Given the description of an element on the screen output the (x, y) to click on. 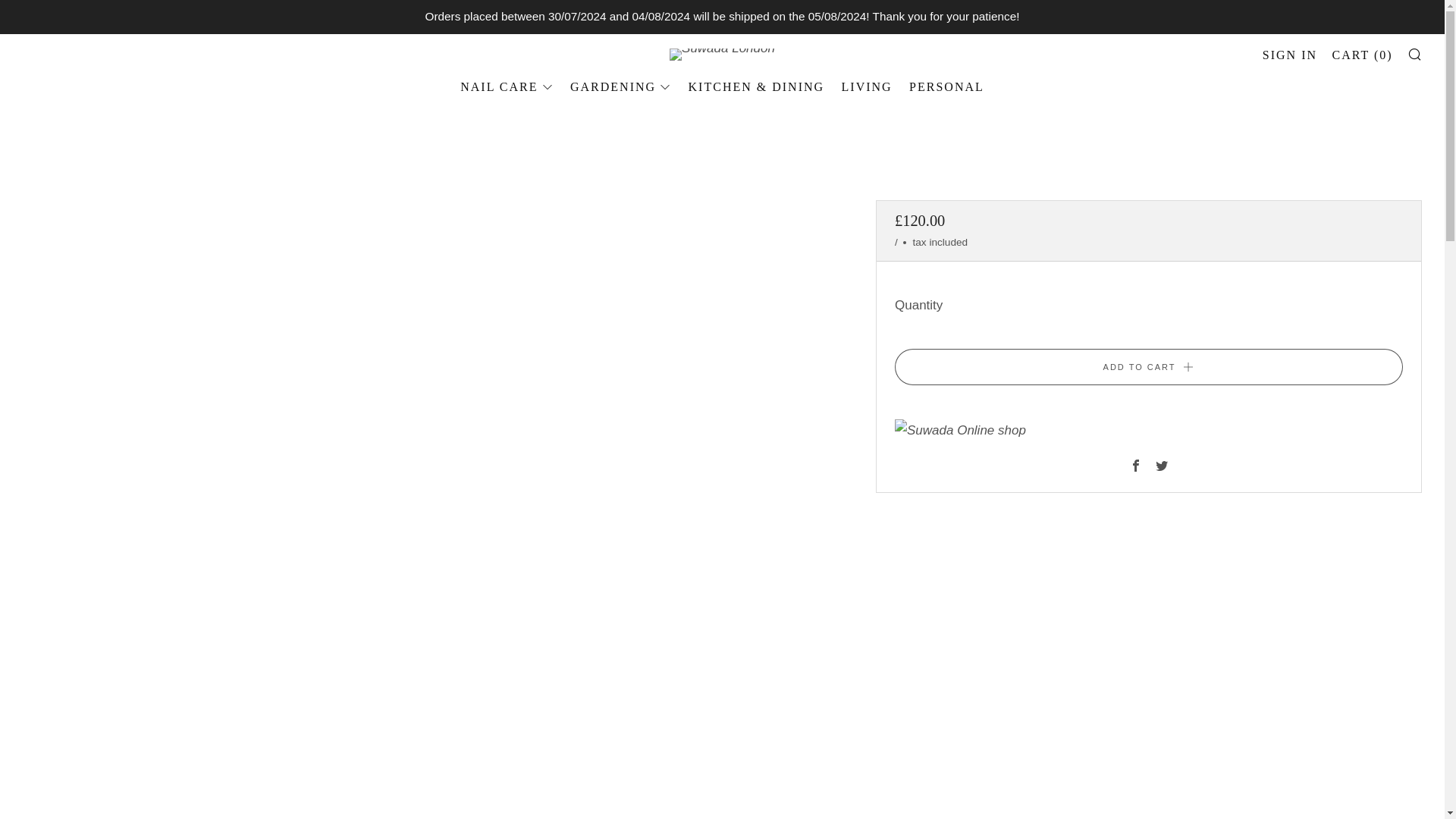
Twitter (1161, 466)
NAIL CARE (506, 87)
Facebook (1135, 466)
ADD TO CART (1149, 366)
SIGN IN (1289, 55)
SEARCH (1414, 53)
PERSONAL (946, 87)
GARDENING (620, 87)
LIVING (866, 87)
